Given the description of an element on the screen output the (x, y) to click on. 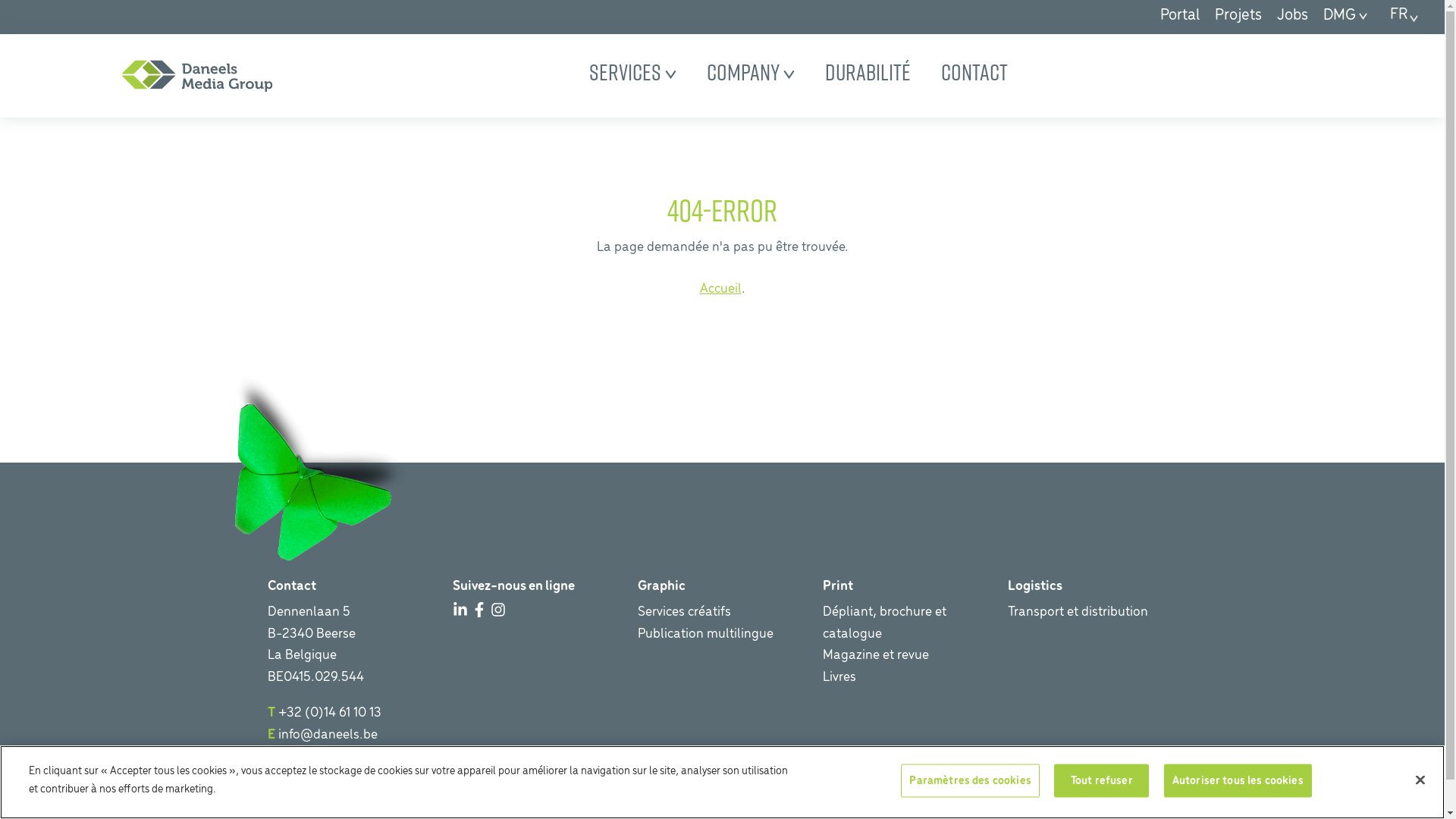
Tout refuser Element type: text (1101, 780)
Cookie Policy Element type: text (423, 801)
Publication multilingue Element type: text (704, 634)
Accueil Element type: text (719, 289)
info@daneels.be Element type: text (326, 735)
Company Element type: text (750, 71)
+32 (0)14 61 10 13 Element type: text (328, 713)
Services Element type: text (632, 71)
Contact Element type: text (973, 71)
Livres Element type: text (838, 677)
Autoriser tous les cookies Element type: text (1237, 780)
Transport et distribution Element type: text (1077, 612)
Magazine et revue Element type: text (875, 655)
Website by Element type: text (1252, 801)
